Given the description of an element on the screen output the (x, y) to click on. 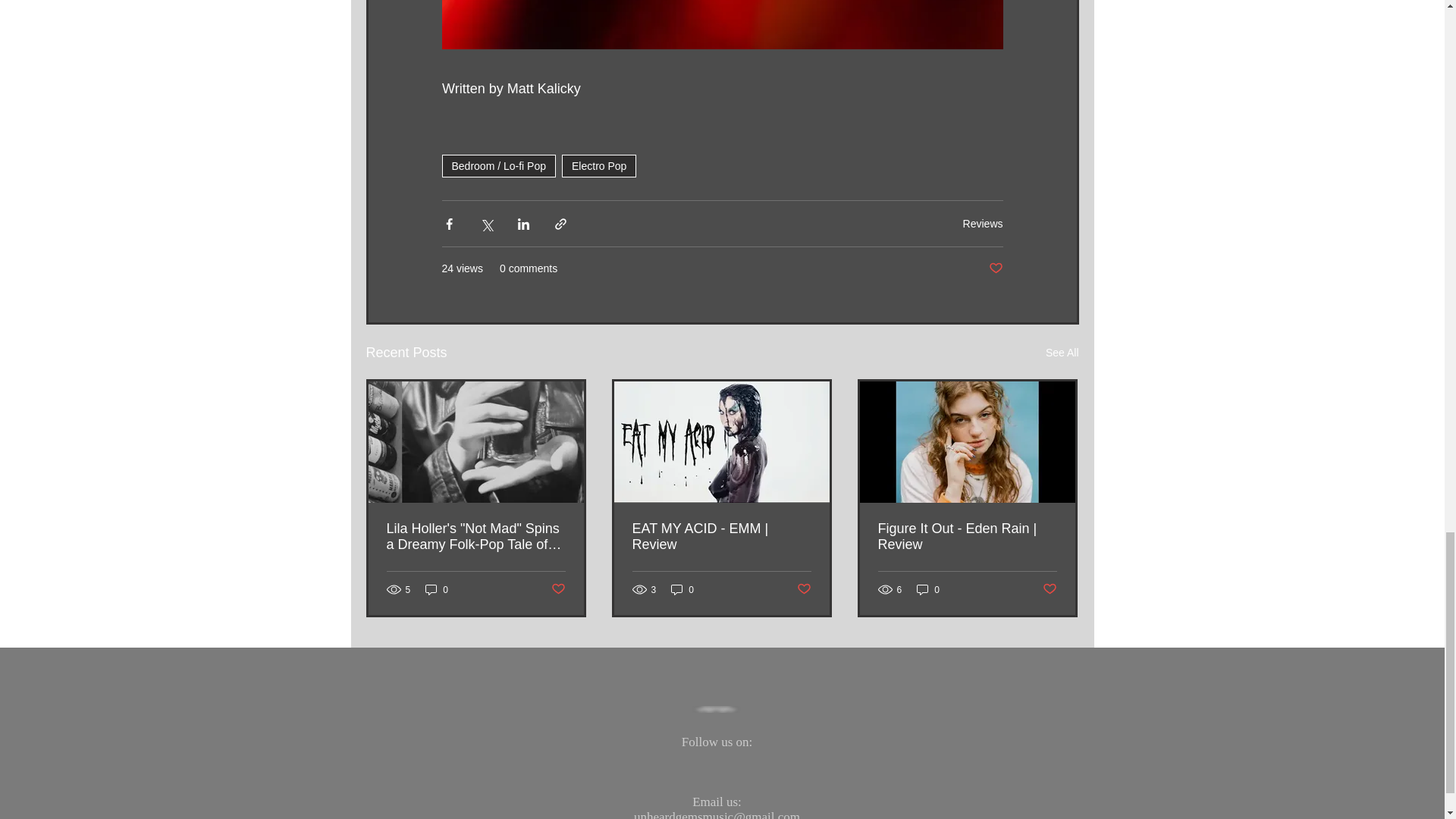
Post not marked as liked (557, 589)
Reviews (982, 223)
0 (682, 589)
Electro Pop (599, 165)
0 (436, 589)
Post not marked as liked (803, 589)
Post not marked as liked (995, 268)
See All (1061, 352)
